Given the description of an element on the screen output the (x, y) to click on. 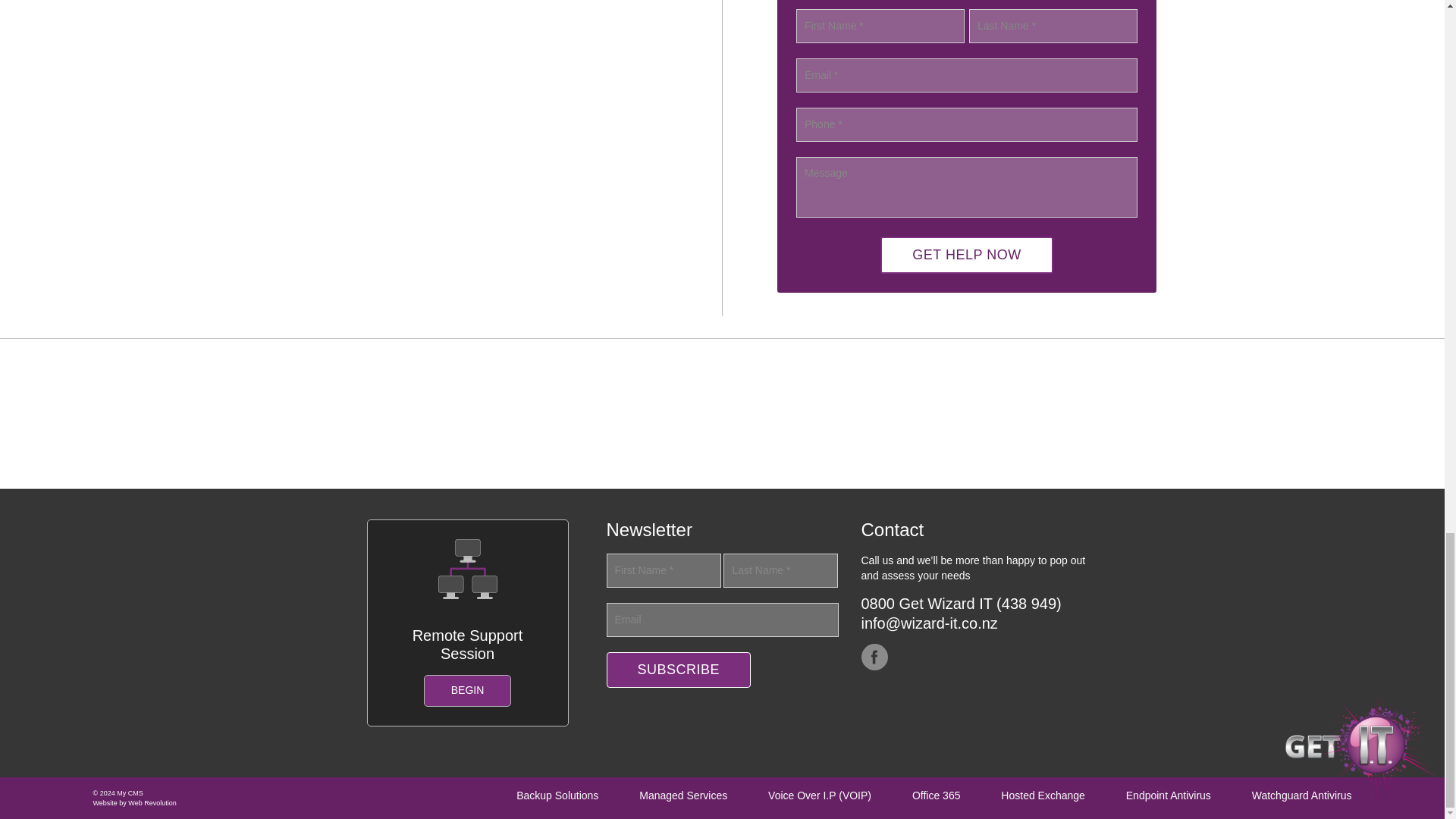
GET HELP NOW (966, 254)
microsoft-certified-eng (603, 411)
office-365-logo (841, 411)
share-point-logo (1080, 411)
microsoft-small-business-logo (363, 411)
SUBSCRIBE (679, 669)
